Given the description of an element on the screen output the (x, y) to click on. 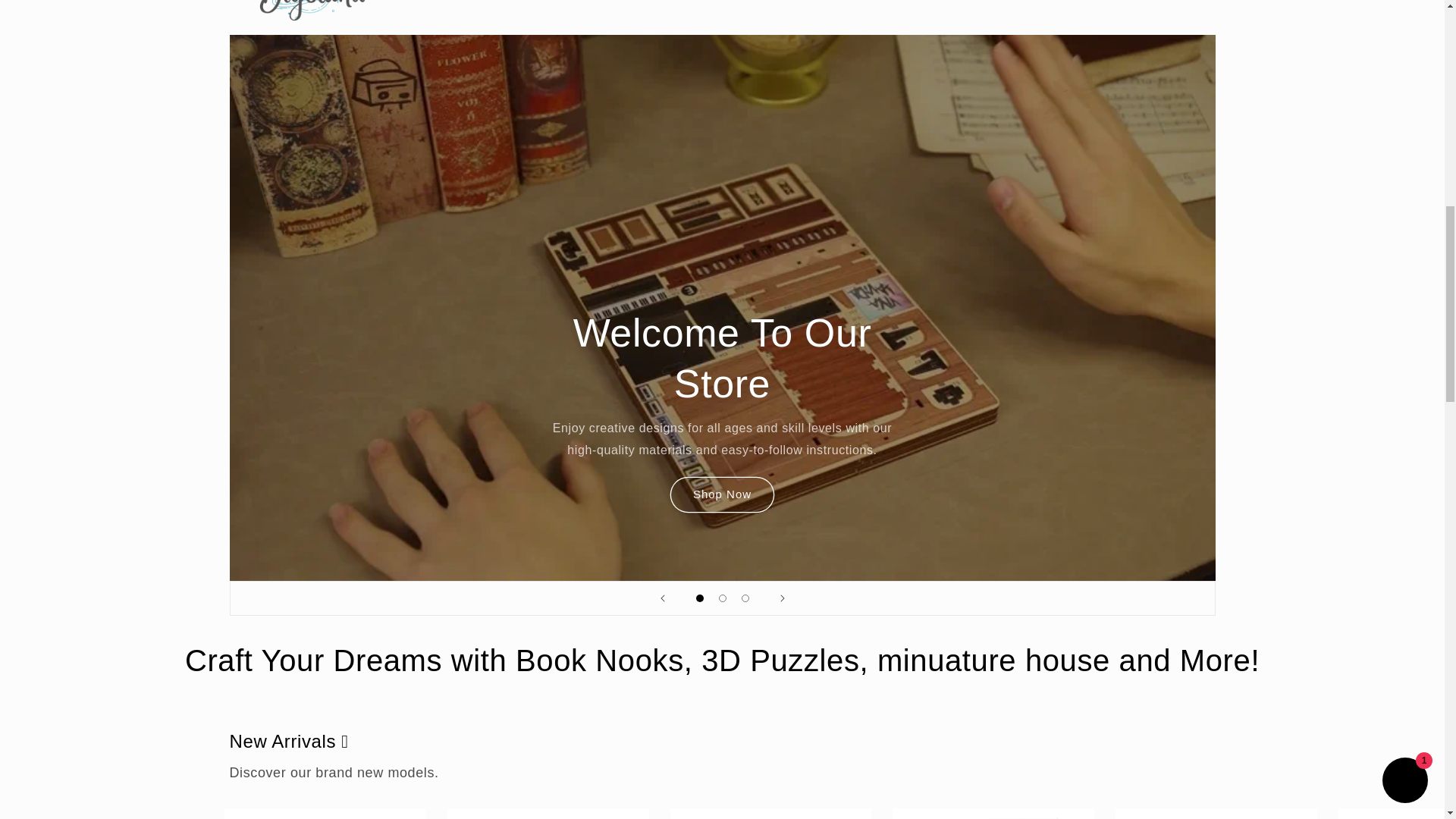
Home (426, 1)
Magic Series (591, 1)
